Given the description of an element on the screen output the (x, y) to click on. 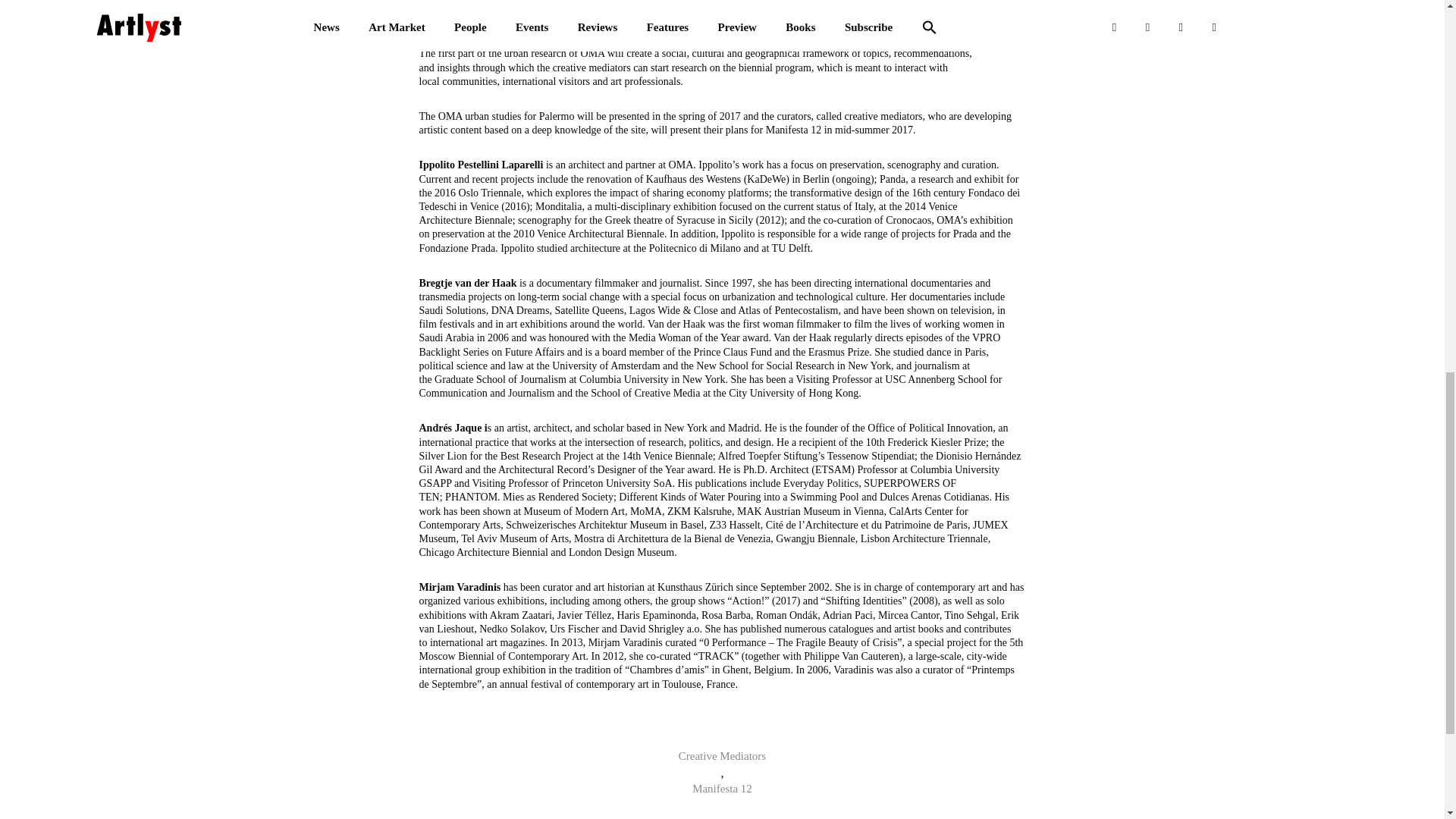
Advertise (1325, 817)
Creative Mediators (721, 757)
About (110, 817)
Manifesta 12 (722, 790)
Contact (388, 817)
Privacy Policy (685, 817)
